Given the description of an element on the screen output the (x, y) to click on. 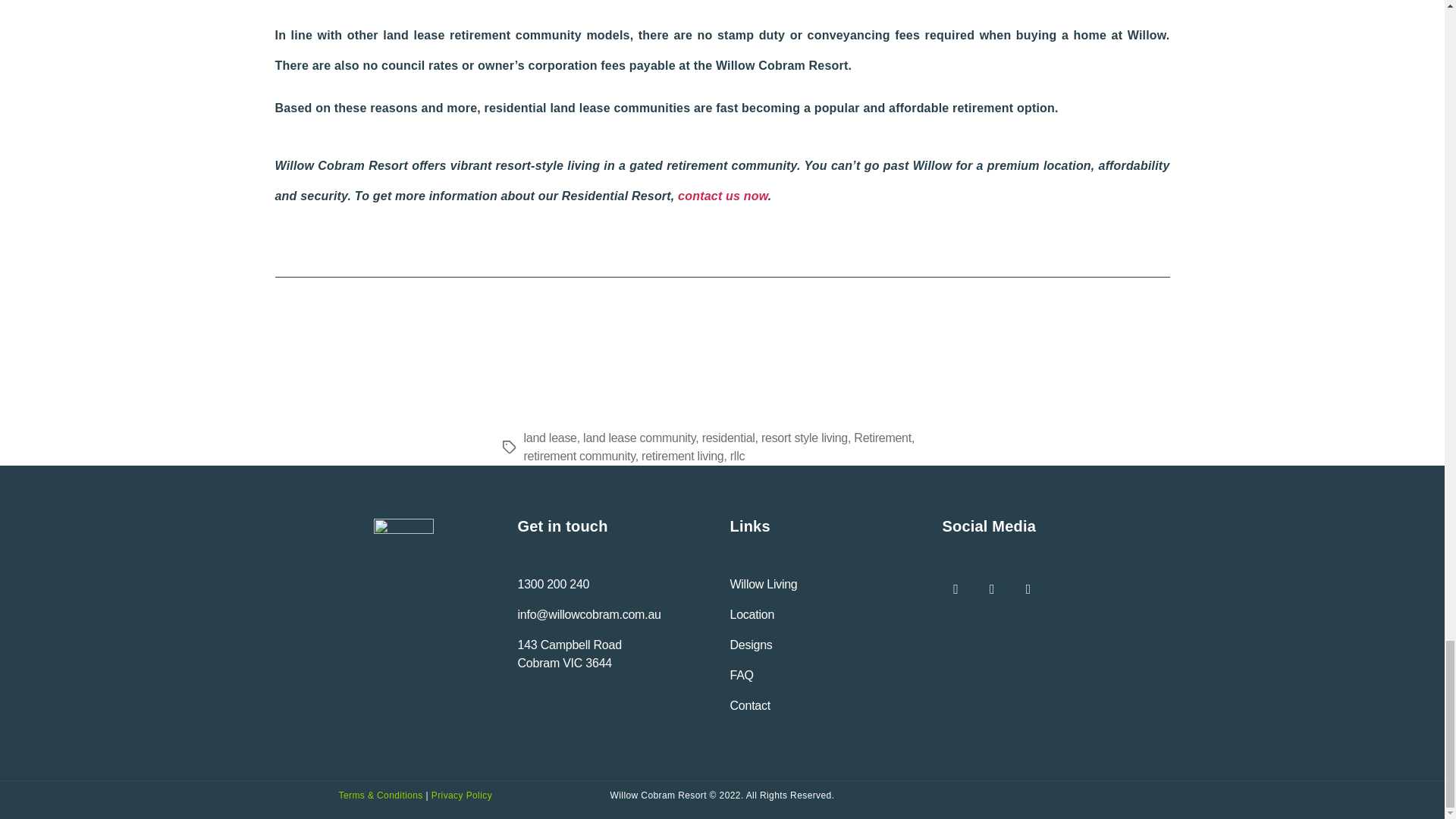
Contact (749, 705)
1300 200 240 (552, 584)
rllc (737, 455)
Location (751, 614)
Privacy Policy (568, 653)
retirement living (461, 795)
Retirement (682, 455)
retirement community (882, 437)
contact us now (578, 455)
